Given the description of an element on the screen output the (x, y) to click on. 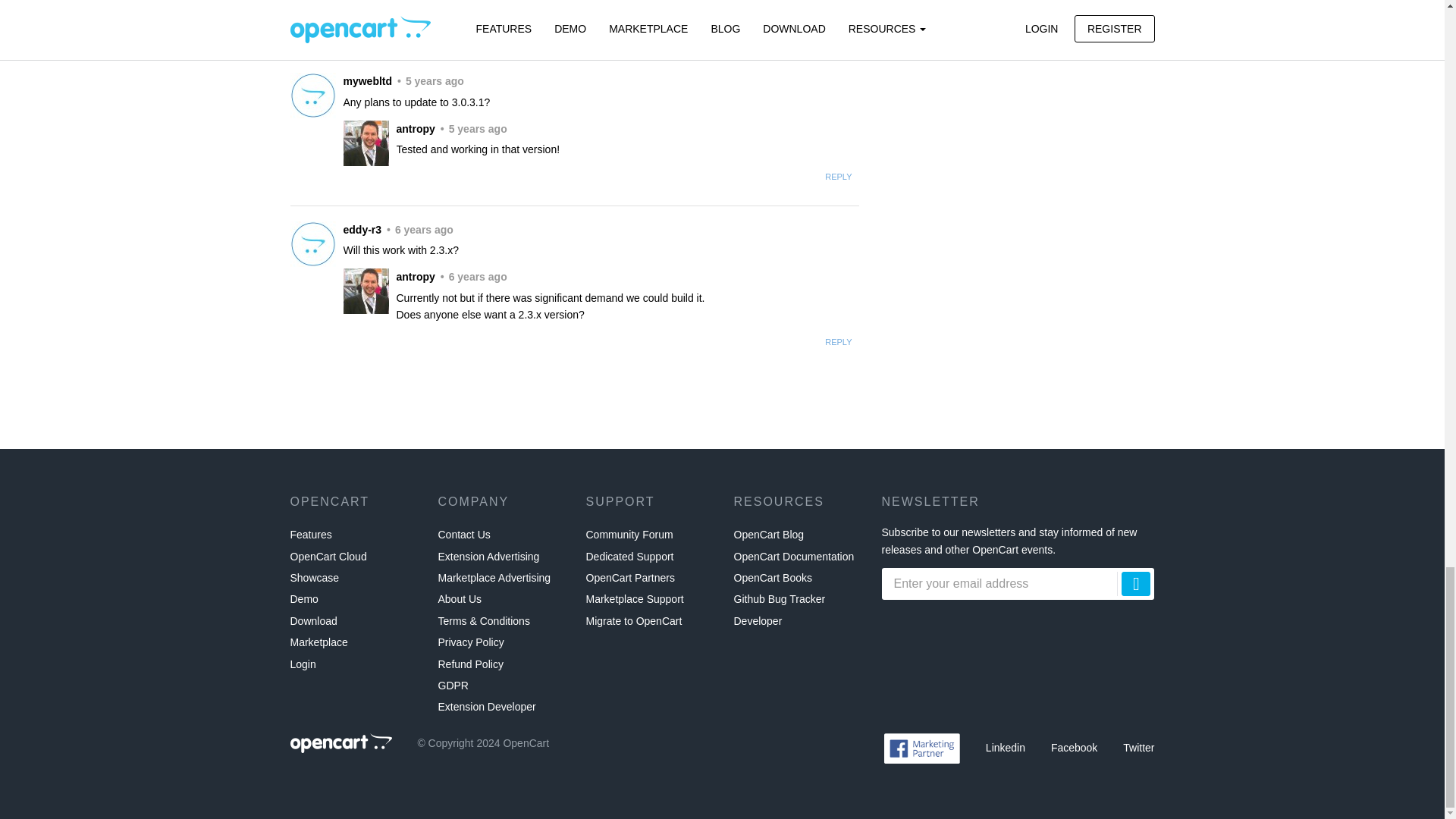
antropy (365, 143)
mywebltd (311, 94)
antropy (365, 290)
eddy-r3 (311, 243)
antropy (365, 0)
